Given the description of an element on the screen output the (x, y) to click on. 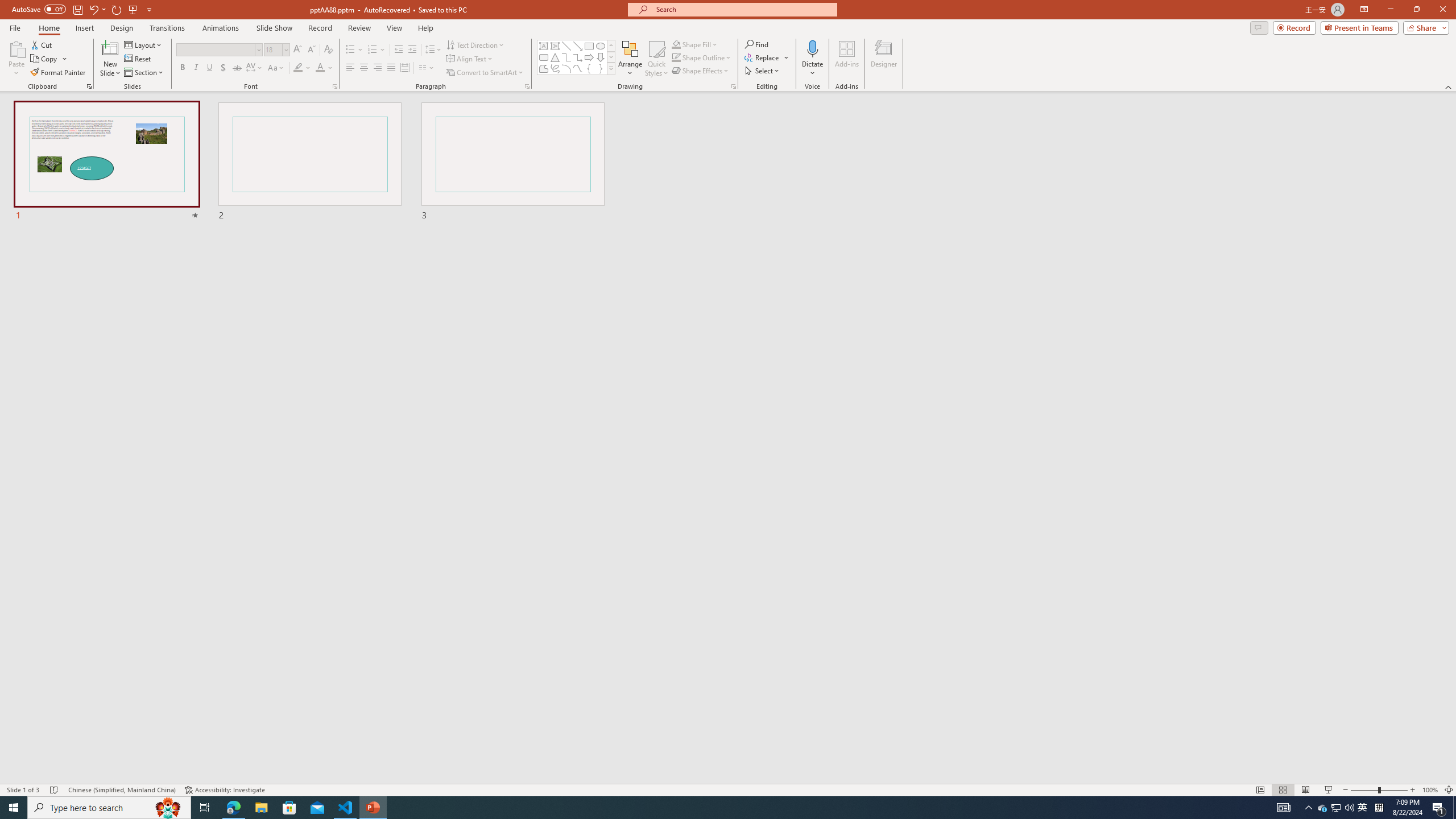
Oval (600, 45)
Paragraph... (526, 85)
Minimize (1390, 9)
Left Brace (589, 68)
Format Painter (58, 72)
Connector: Elbow Arrow (577, 57)
Animations (220, 28)
Ribbon Display Options (1364, 9)
Select (762, 69)
Find... (756, 44)
Font Color (324, 67)
Bullets (349, 49)
Strikethrough (237, 67)
